Given the description of an element on the screen output the (x, y) to click on. 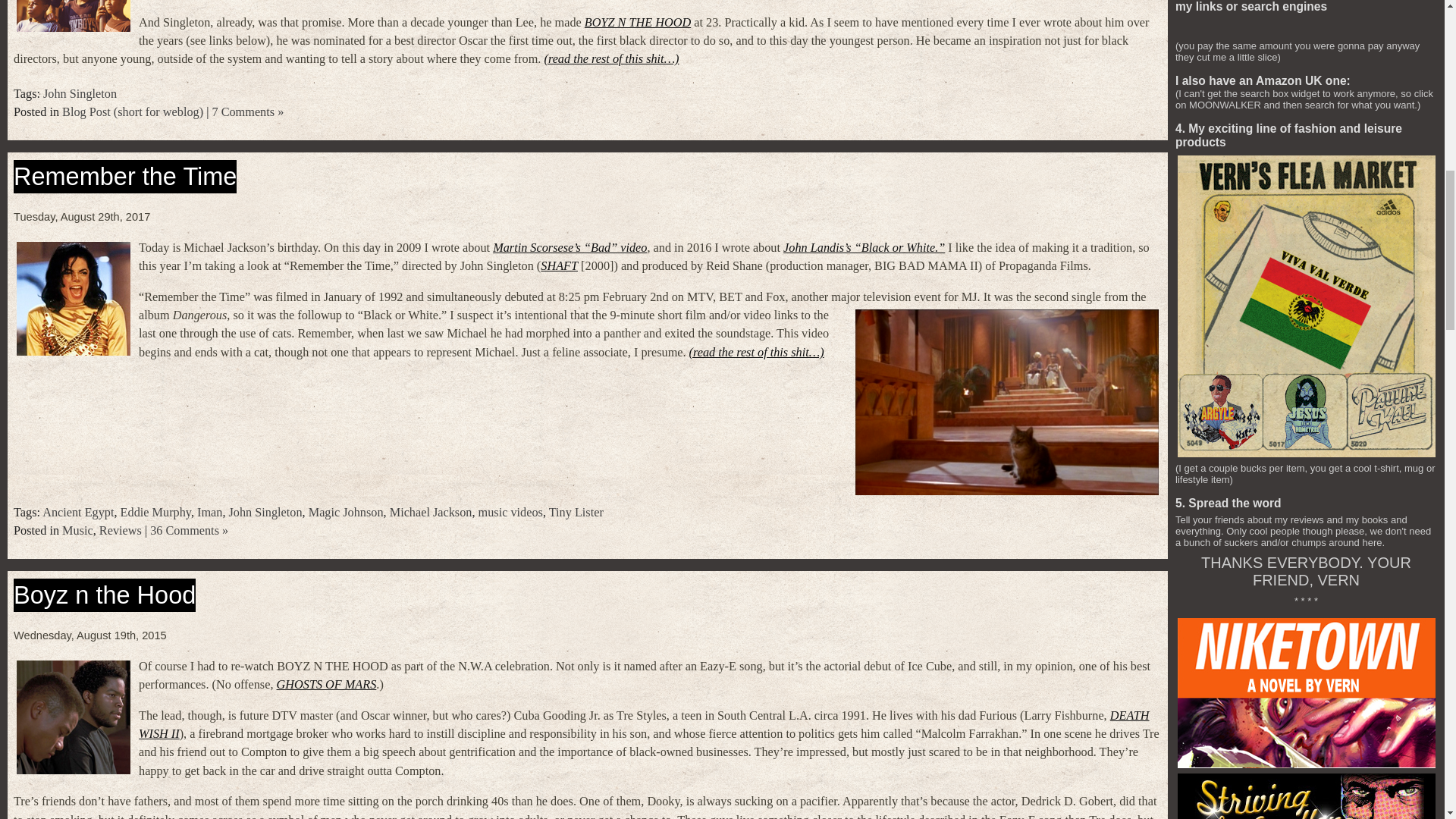
Permanent Link to Boyz n the Hood (104, 594)
Permanent Link to Remember the Time (124, 176)
